Given the description of an element on the screen output the (x, y) to click on. 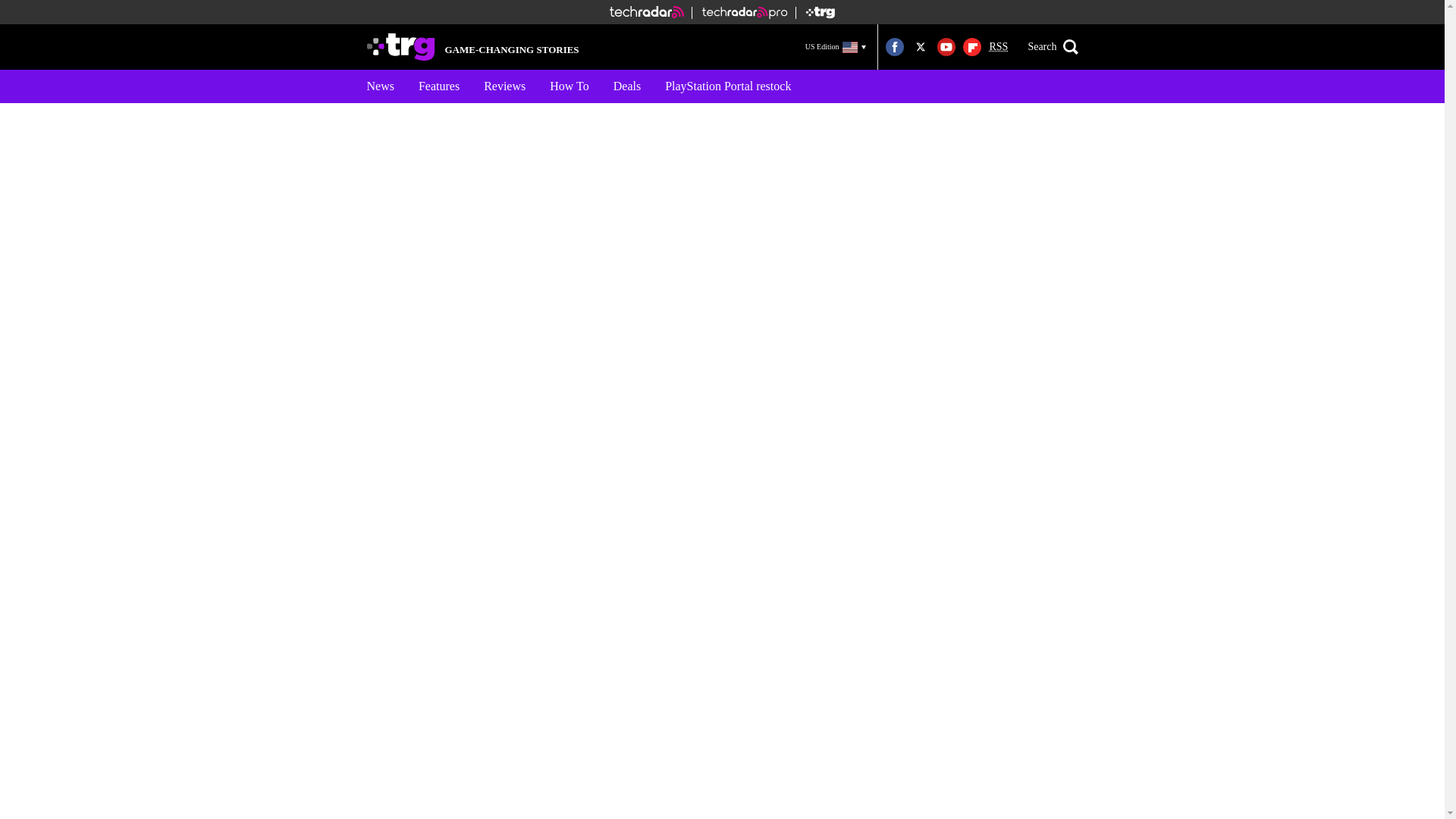
Really Simple Syndication (997, 46)
How To (568, 86)
GAME-CHANGING STORIES (472, 46)
US Edition (836, 46)
RSS (997, 46)
Features (438, 86)
News (380, 86)
PlayStation Portal restock (727, 86)
Reviews (504, 86)
Deals (626, 86)
